Given the description of an element on the screen output the (x, y) to click on. 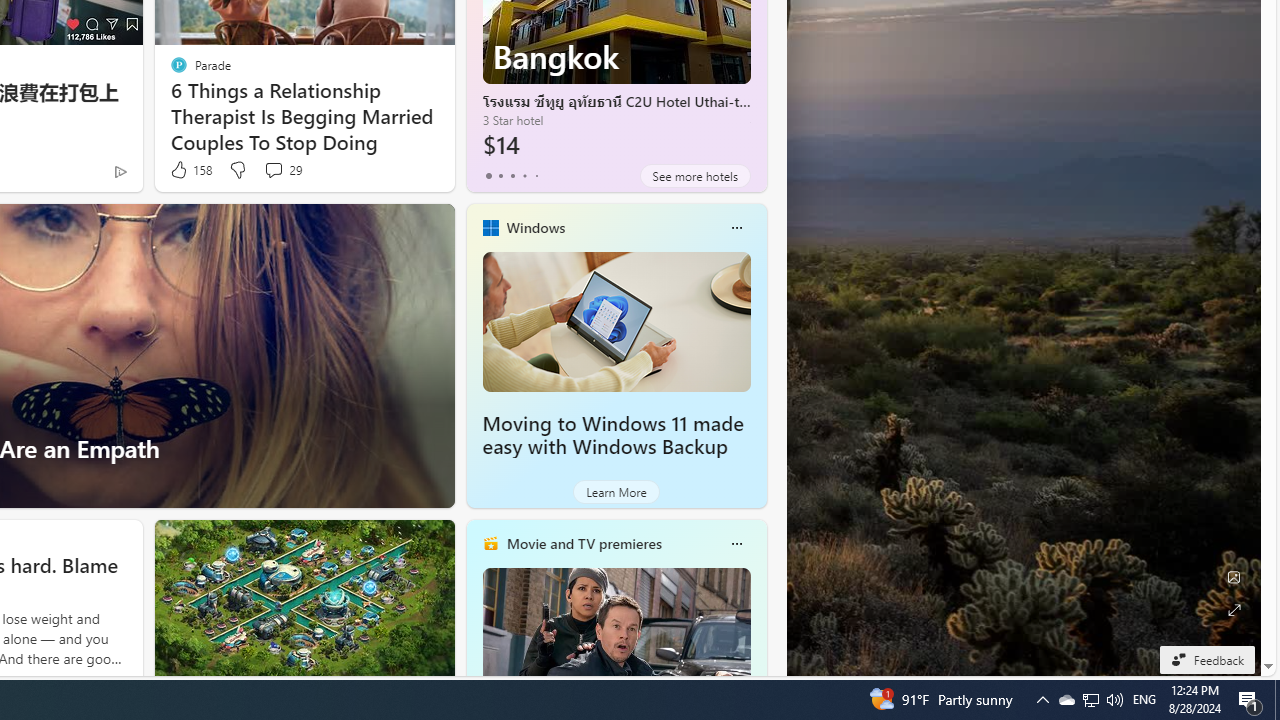
Learn More (616, 491)
tab-3 (524, 175)
tab-1 (500, 175)
tab-2 (511, 175)
View comments 29 Comment (273, 169)
158 Like (190, 170)
Class: icon-img (736, 543)
Expand background (1233, 610)
Dislike (237, 170)
See more hotels (694, 175)
tab-0 (488, 175)
Edit Background (1233, 577)
More options (736, 543)
